Given the description of an element on the screen output the (x, y) to click on. 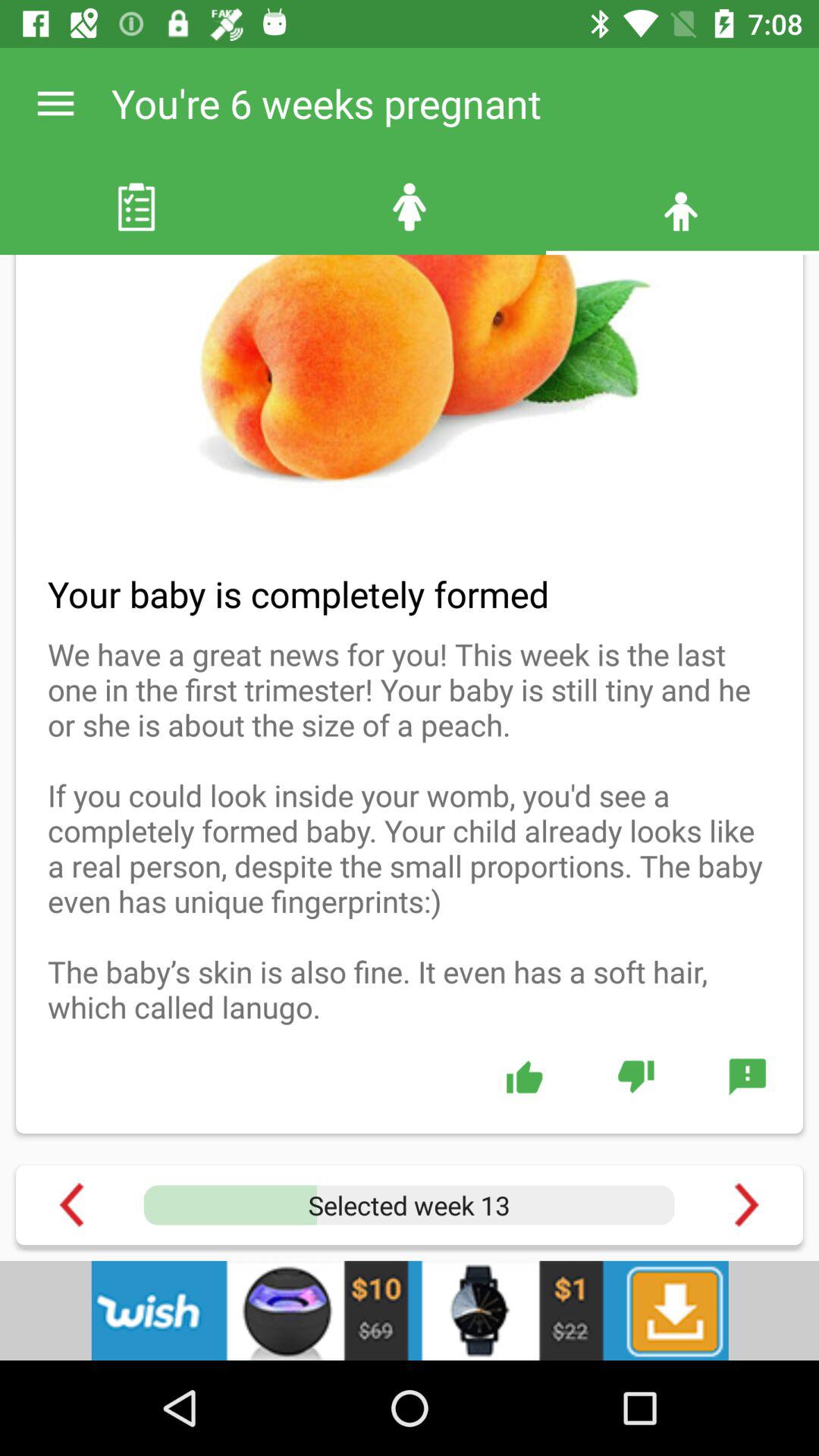
dislike the app (635, 1076)
